Given the description of an element on the screen output the (x, y) to click on. 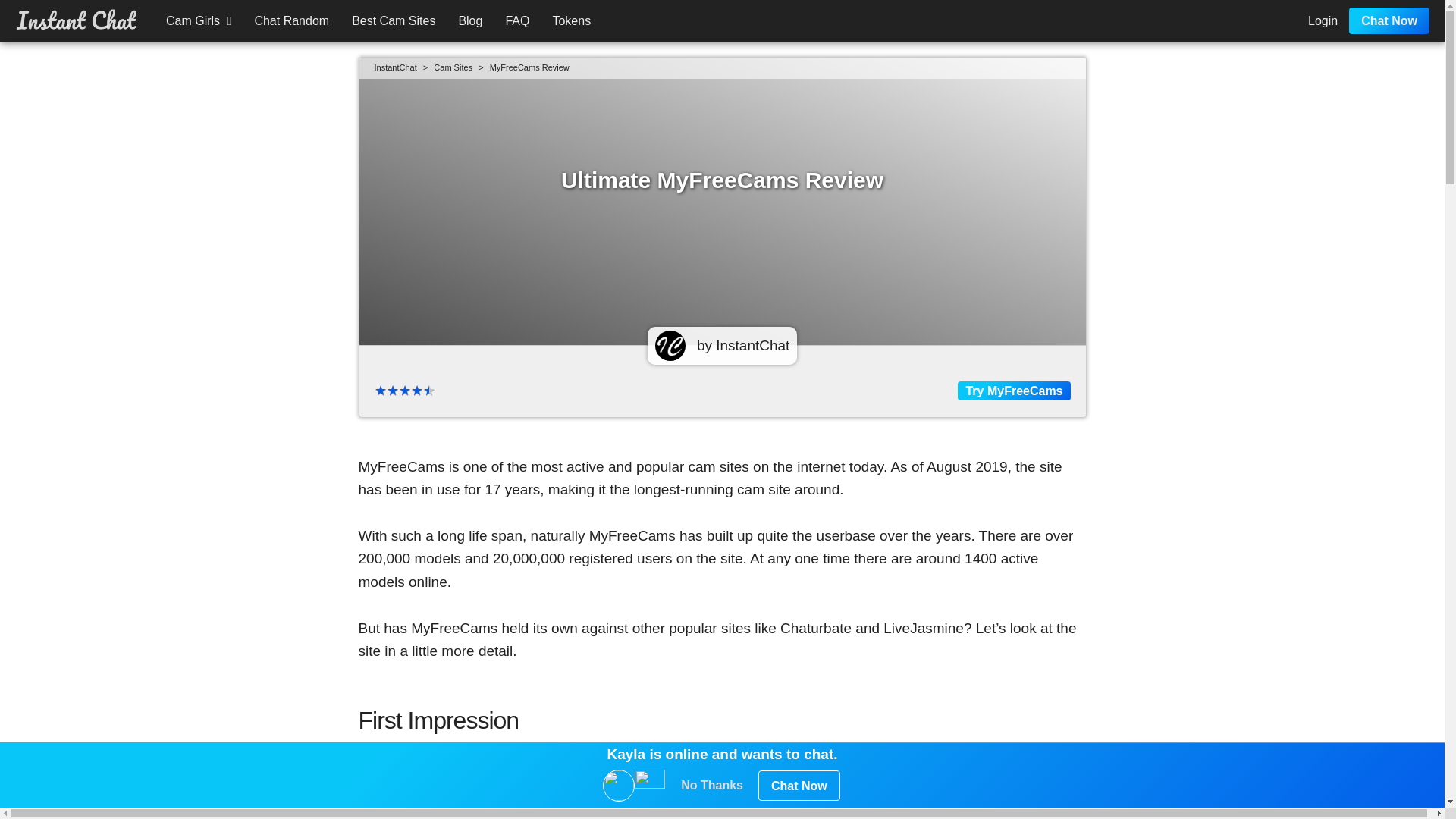
Cam Sites (453, 67)
Login (1318, 20)
InstantChat (396, 67)
Tokens (571, 20)
FAQ (516, 20)
by InstantChat (722, 341)
Blog (469, 20)
Chat Random (291, 20)
Try MyFreeCams (1014, 390)
Best Cam Sites (393, 20)
Chat Now (1389, 20)
Cam Girls (198, 20)
